Given the description of an element on the screen output the (x, y) to click on. 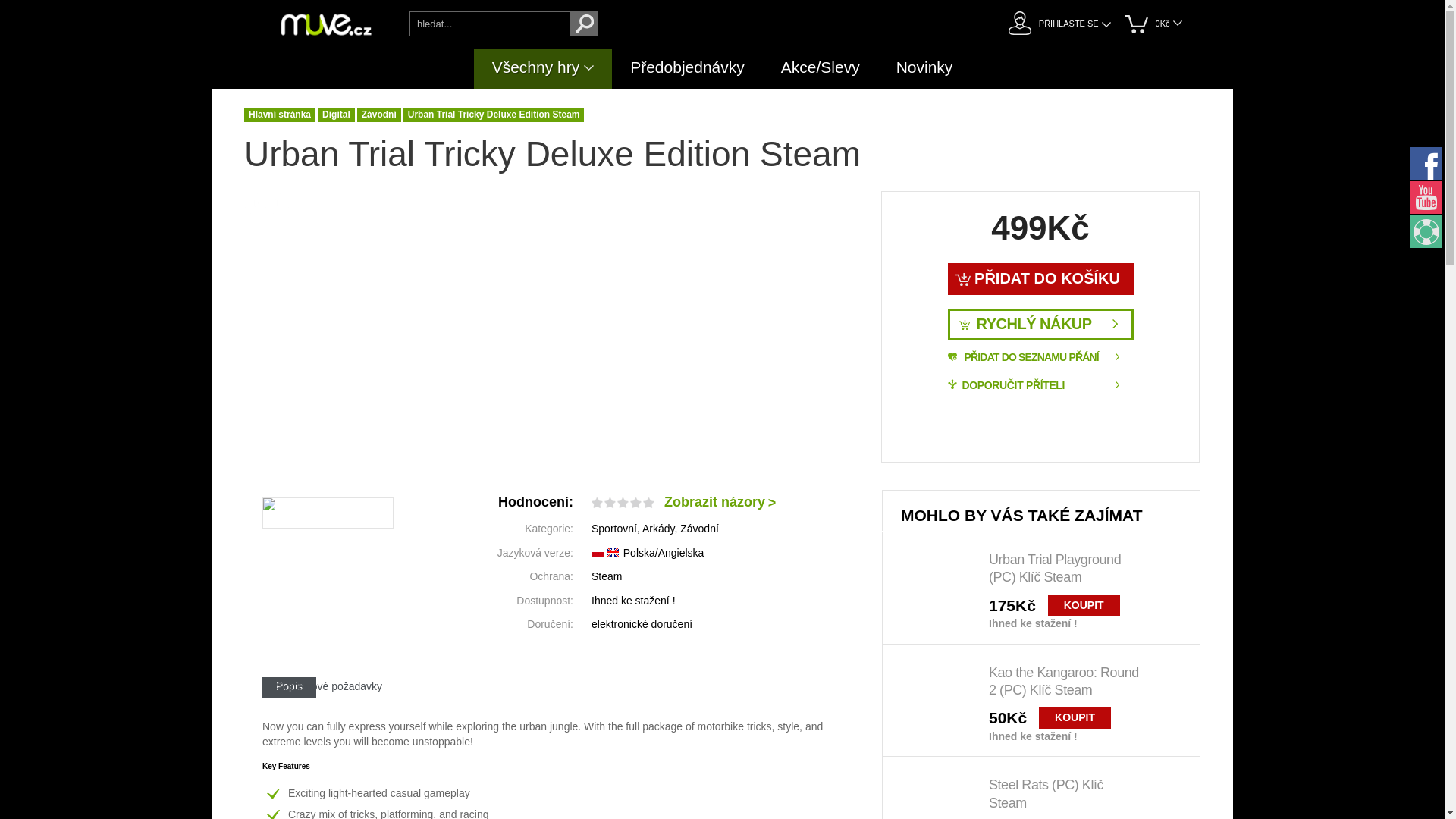
Digital (336, 114)
KOUPIT (1083, 605)
Novinky (924, 68)
Popis (288, 687)
